Given the description of an element on the screen output the (x, y) to click on. 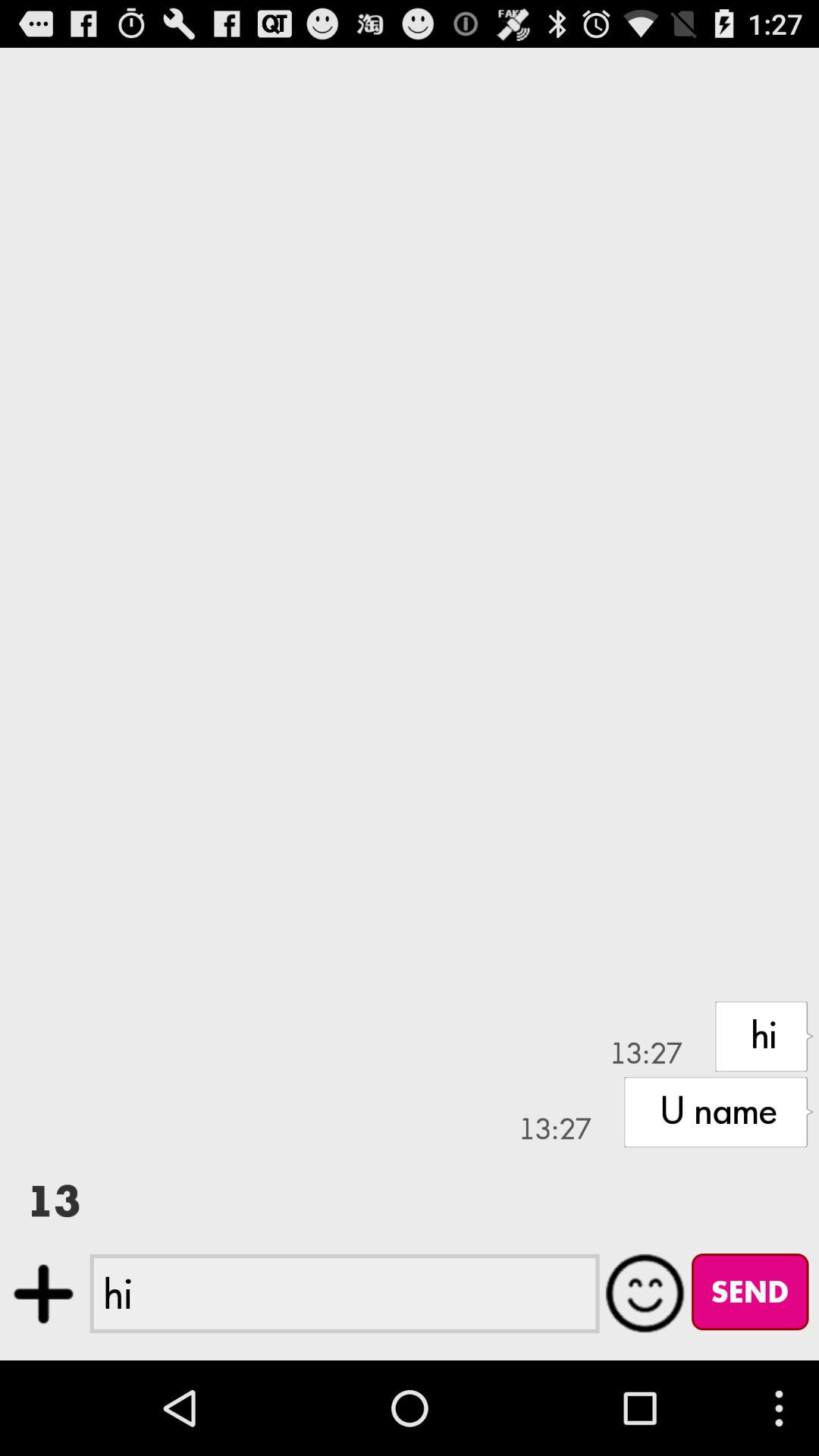
add new message (43, 1293)
